Given the description of an element on the screen output the (x, y) to click on. 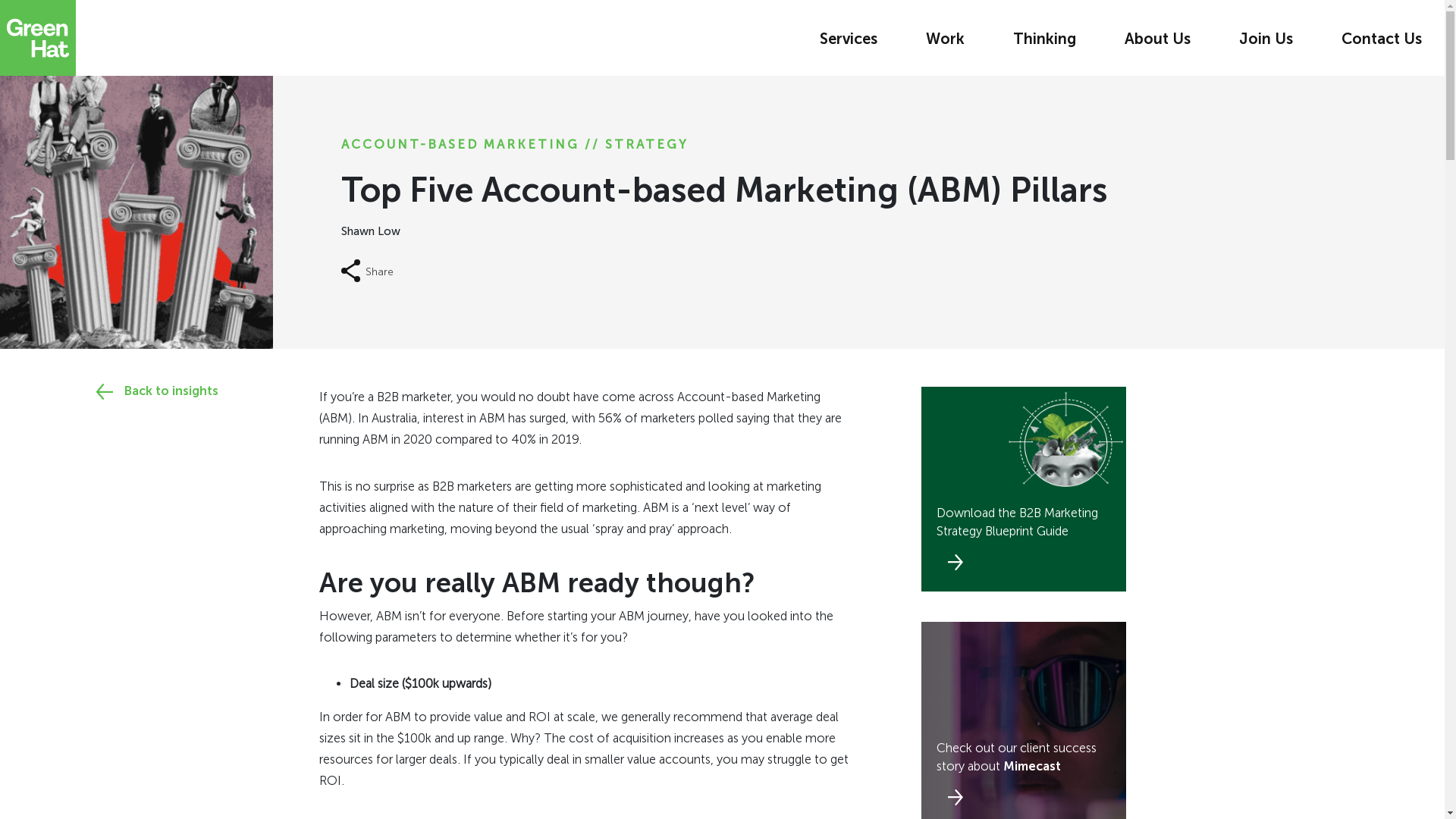
ACCOUNT-BASED MARKETING Element type: text (462, 144)
About Us Element type: text (1157, 43)
STRATEGY Element type: text (646, 144)
Download the B2B Marketing Strategy Blueprint Guide Element type: text (1023, 488)
Services Element type: text (848, 43)
Join Us Element type: text (1265, 43)
Thinking Element type: text (1044, 43)
Back to insights Element type: text (144, 391)
Share Element type: text (367, 270)
Work Element type: text (945, 43)
Contact Us Element type: text (1381, 43)
